Given the description of an element on the screen output the (x, y) to click on. 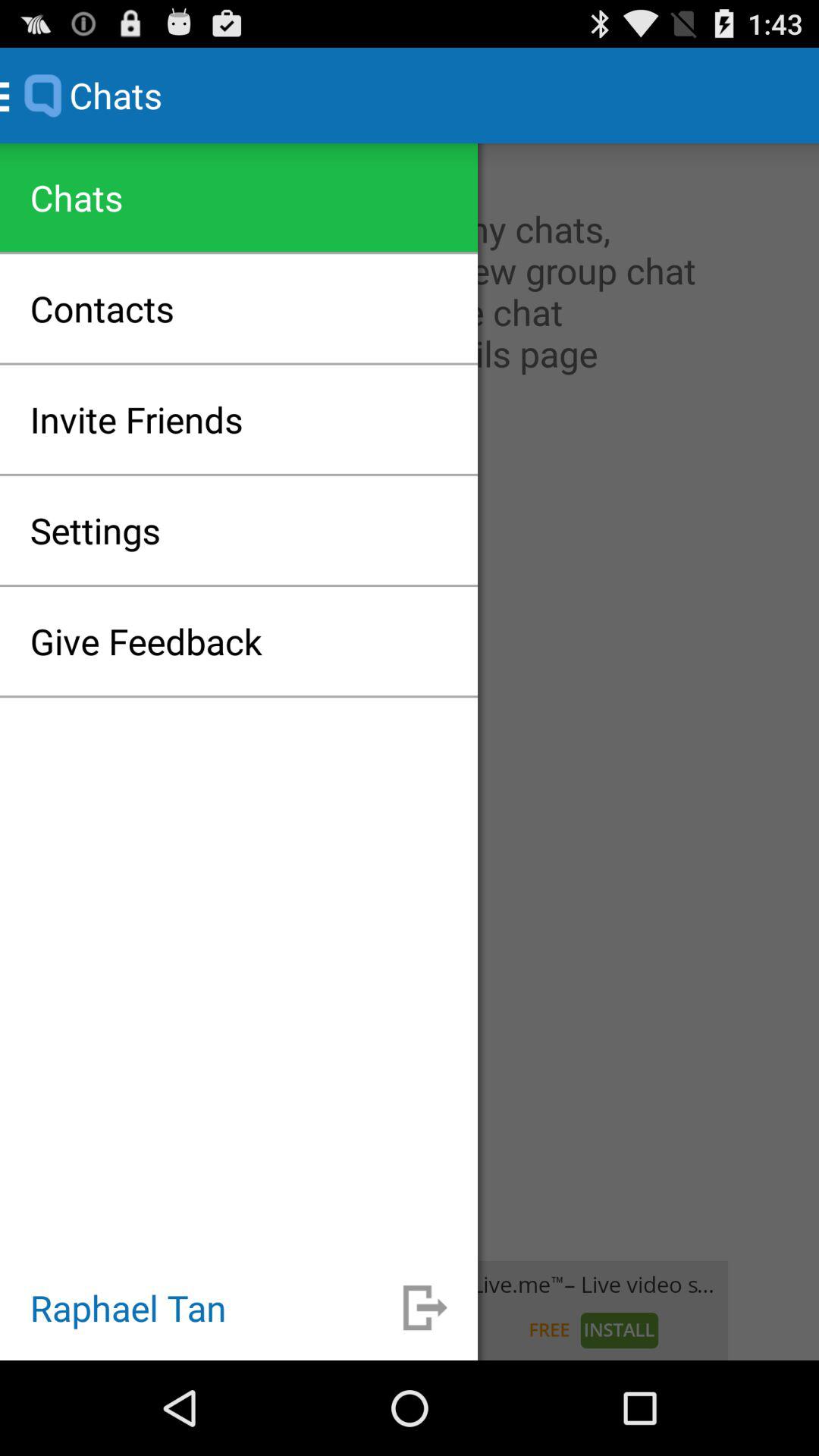
click on the icon at right side of raphael tan (425, 1308)
